Given the description of an element on the screen output the (x, y) to click on. 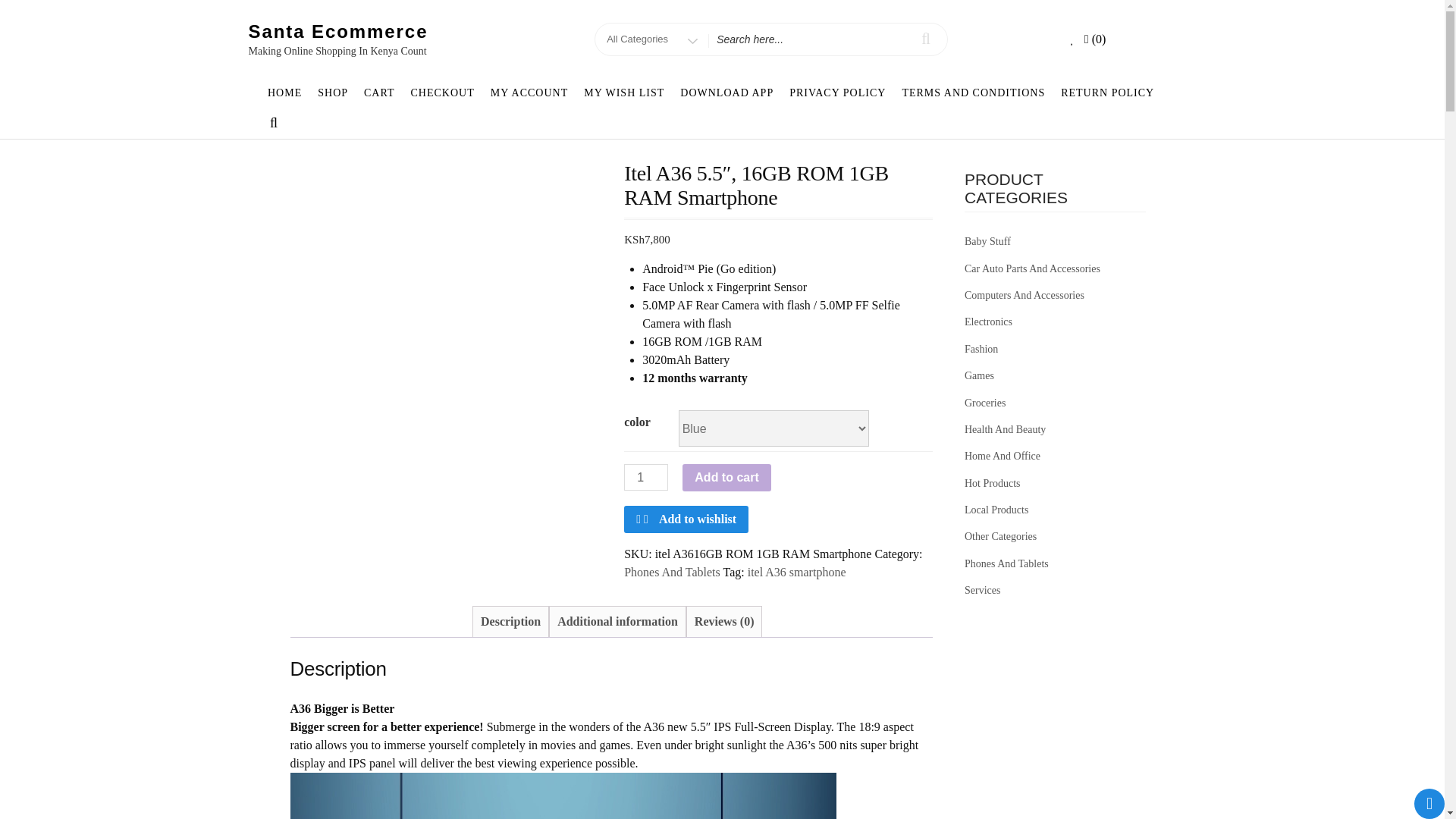
MY WISH LIST (624, 92)
MY ACCOUNT (528, 92)
Cart View (1095, 38)
itel A36 smartphone (796, 571)
PRIVACY POLICY (837, 92)
Additional information (617, 621)
SHOP (333, 92)
Add to cart (726, 477)
CART (379, 92)
Description (510, 621)
